Given the description of an element on the screen output the (x, y) to click on. 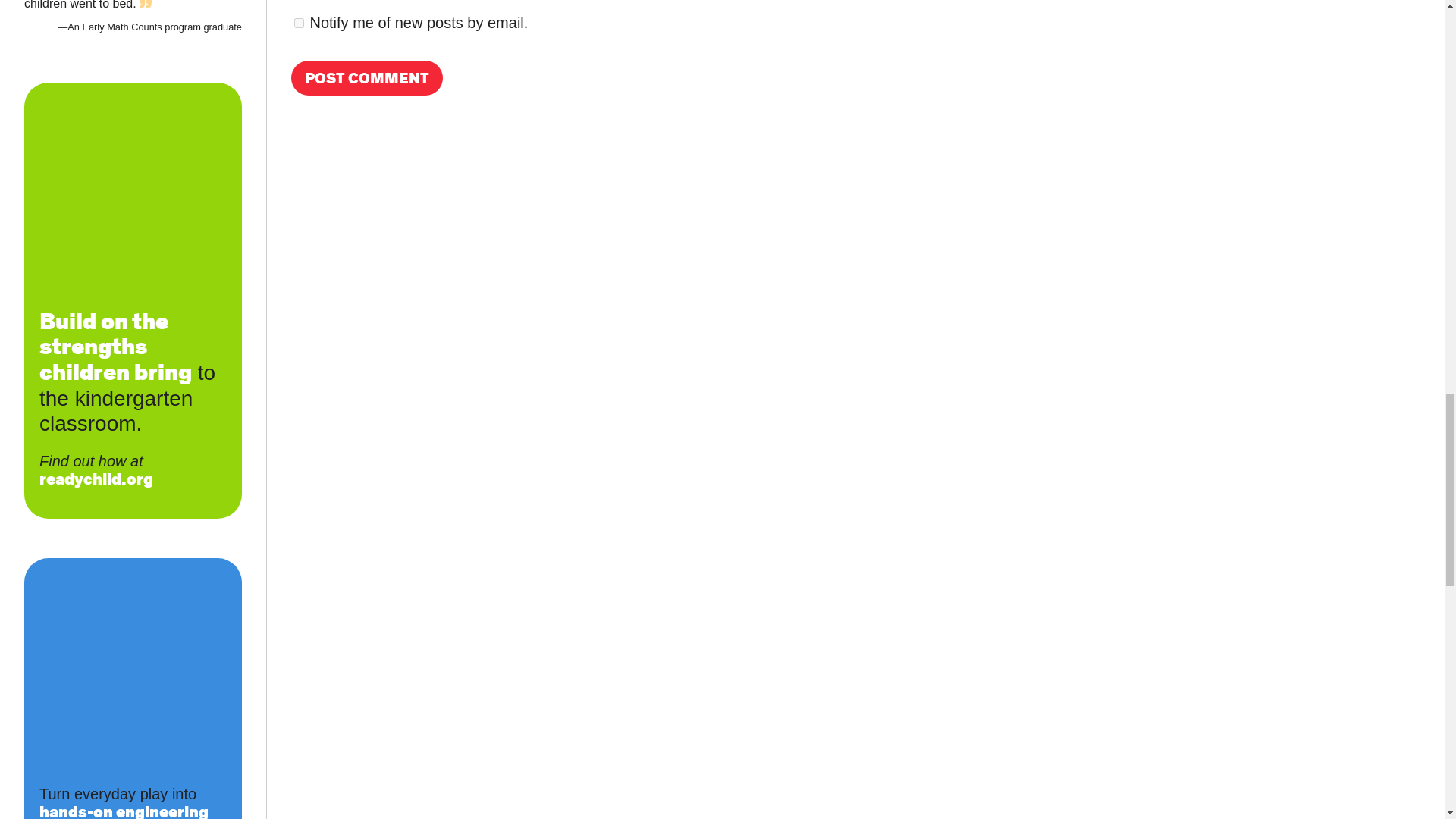
subscribe (299, 22)
Post Comment (366, 77)
